Given the description of an element on the screen output the (x, y) to click on. 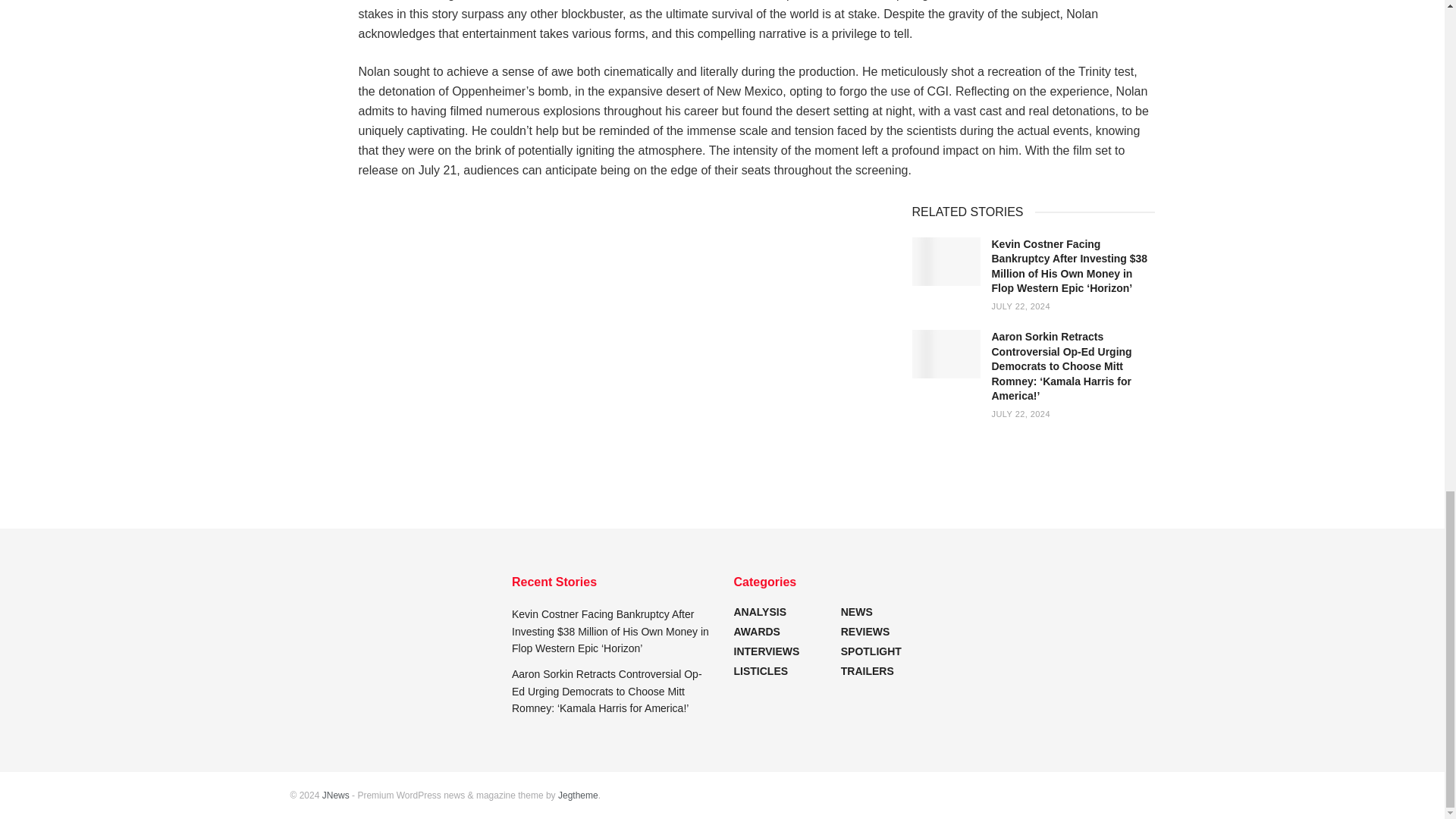
JULY 22, 2024 (1020, 306)
Jegtheme (577, 795)
JULY 22, 2024 (1020, 413)
